Given the description of an element on the screen output the (x, y) to click on. 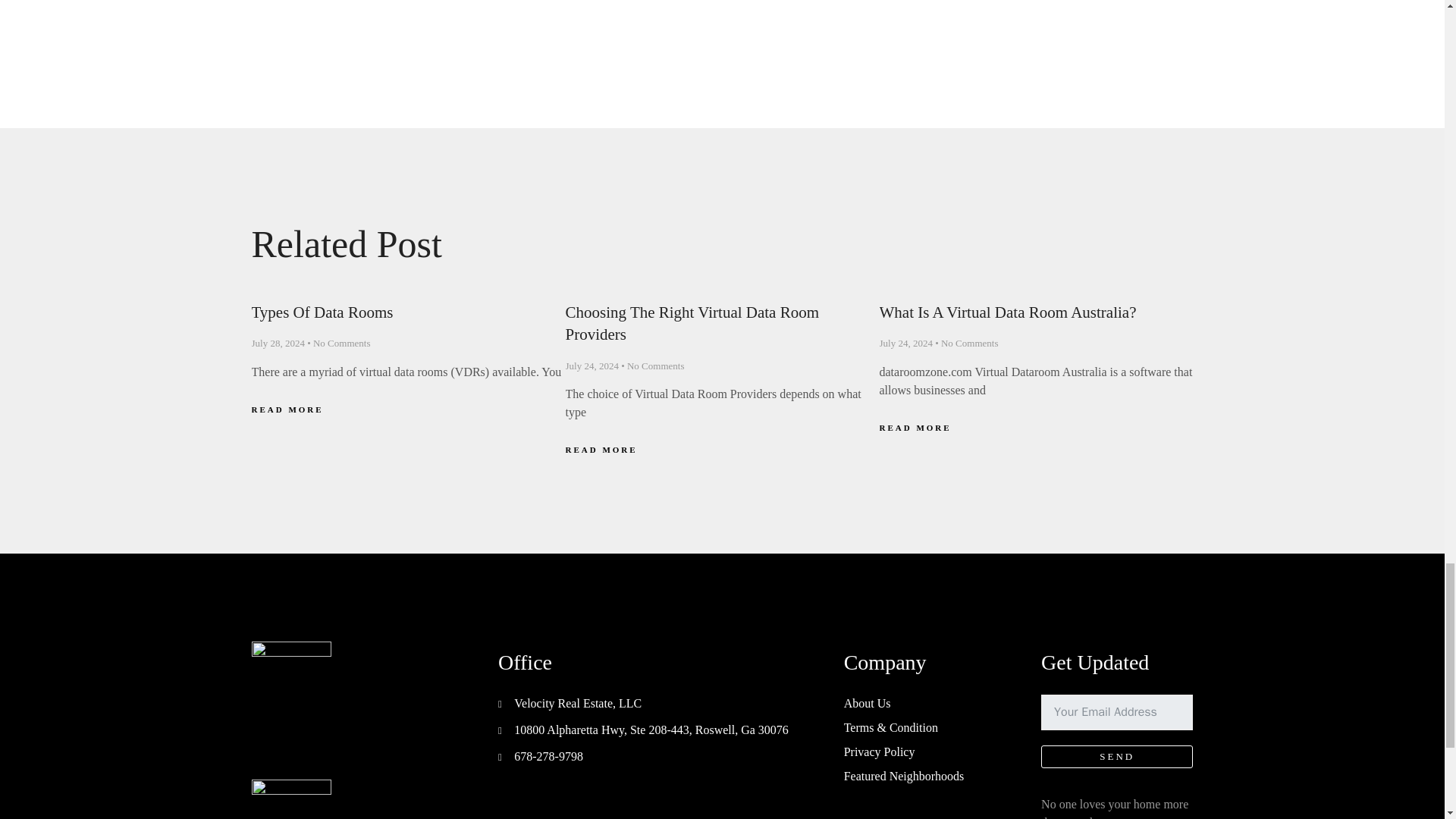
Office (647, 671)
Get Updated (1116, 671)
Related Post (722, 262)
No one loves your home more than you do. (1116, 800)
Company (919, 671)
SEND (1116, 738)
